Given the description of an element on the screen output the (x, y) to click on. 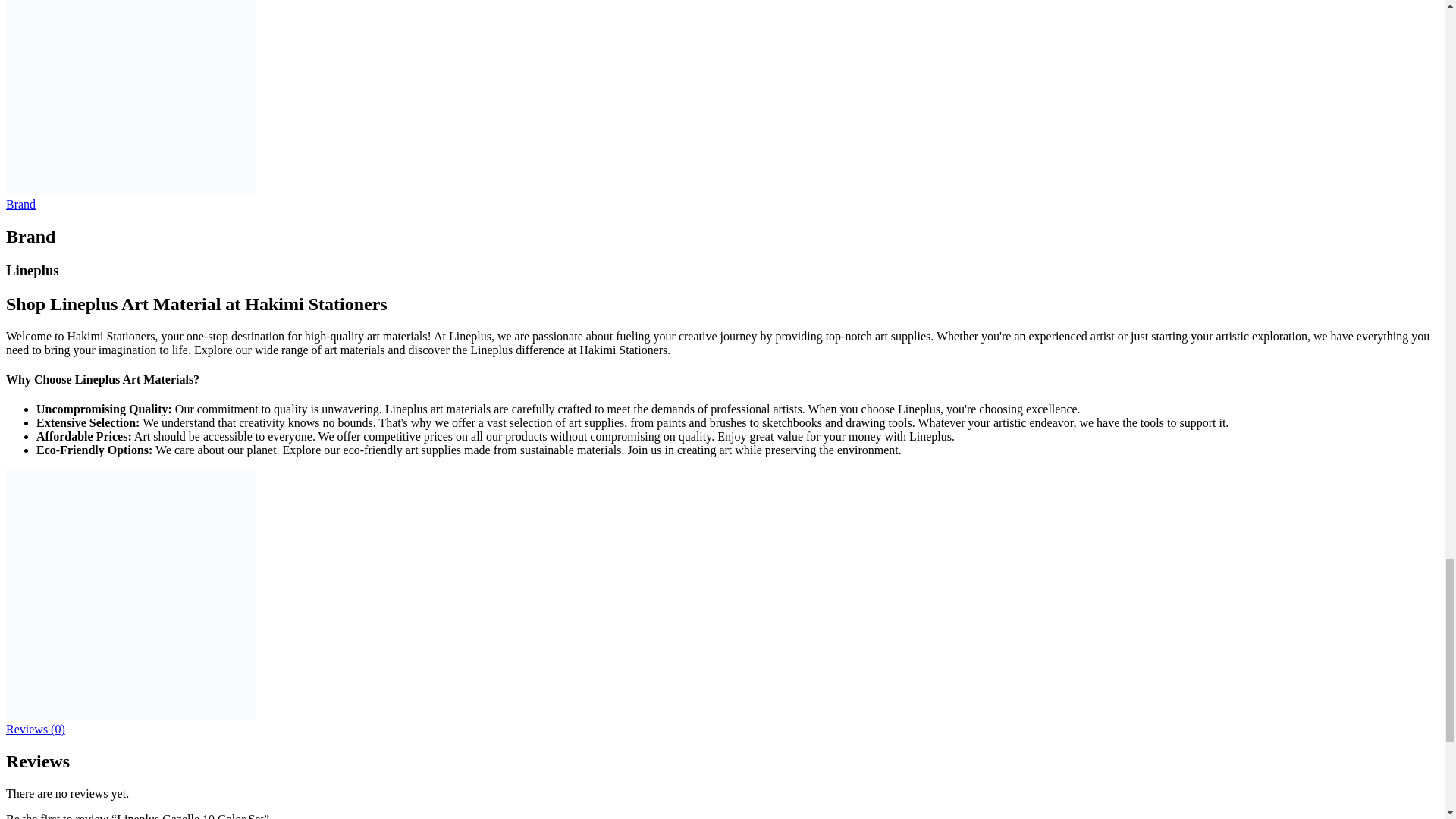
Lineplus (130, 190)
Lineplus (130, 715)
